Given the description of an element on the screen output the (x, y) to click on. 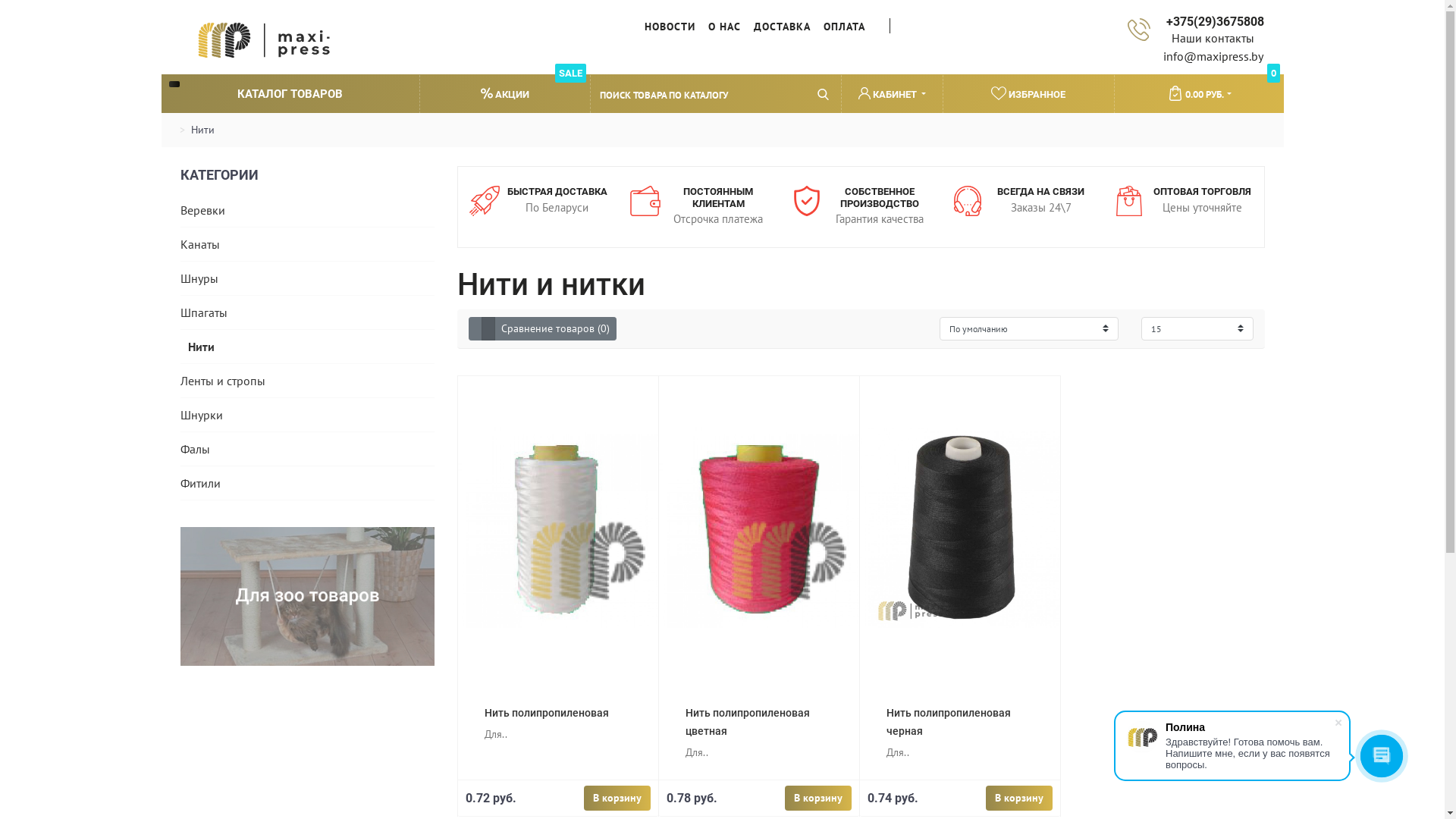
info@maxipress.by Element type: text (1212, 56)
+375(29)3675808 Element type: text (1212, 21)
